Given the description of an element on the screen output the (x, y) to click on. 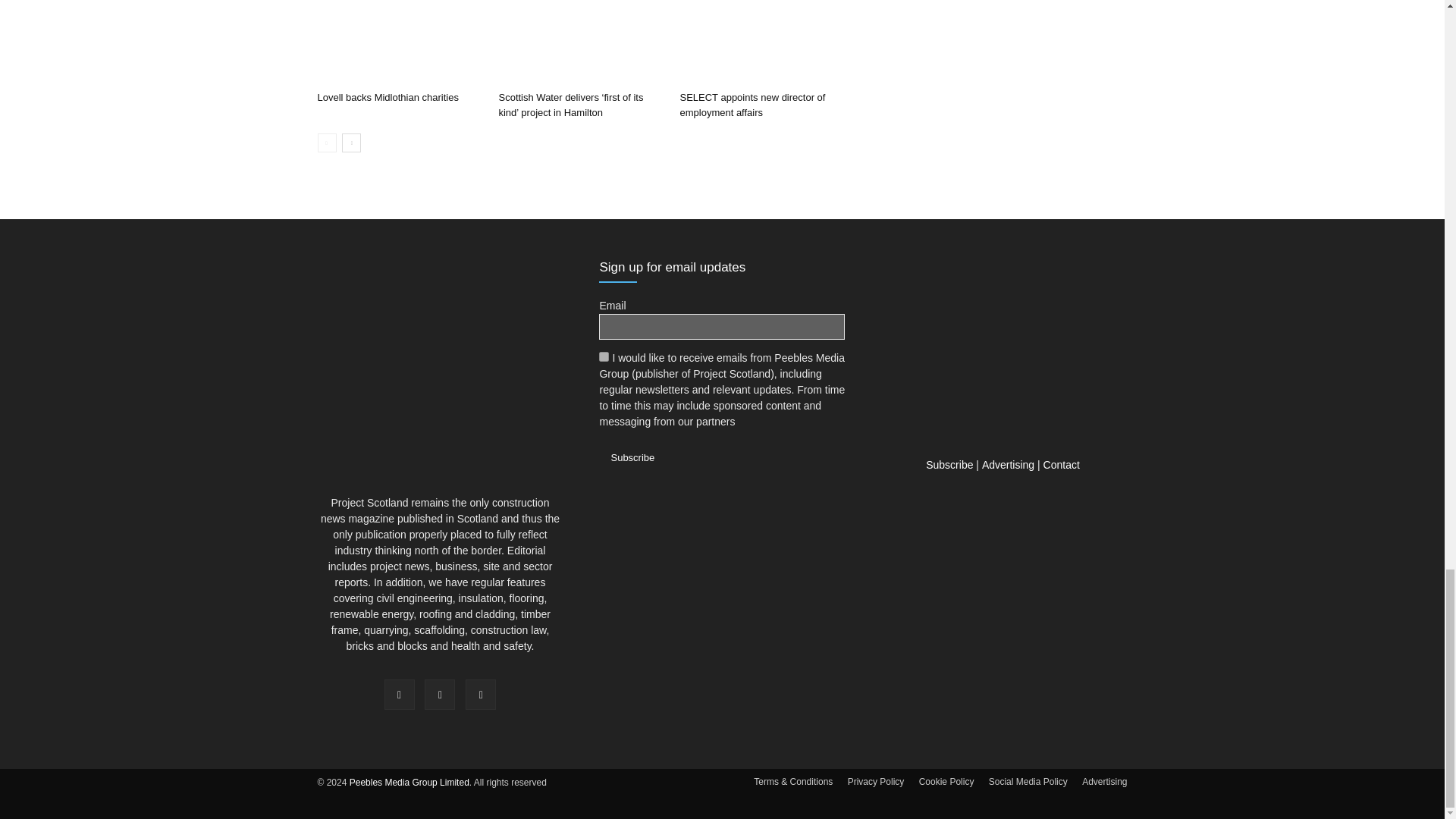
on (603, 356)
Subscribe (631, 457)
